Given the description of an element on the screen output the (x, y) to click on. 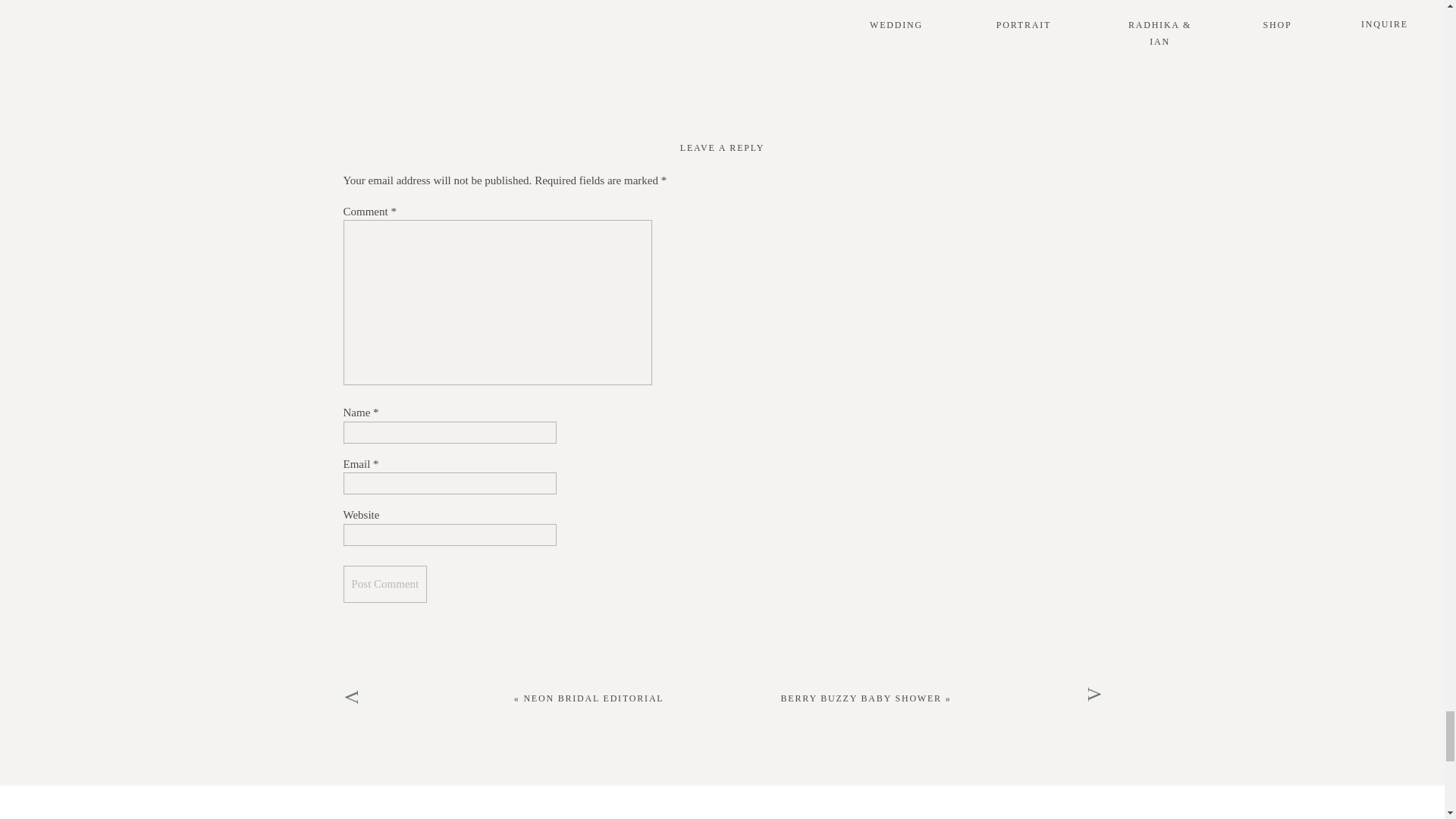
Post Comment (384, 583)
Post Comment (384, 583)
BERRY BUZZY BABY SHOWER (861, 697)
NEON BRIDAL EDITORIAL (592, 697)
BE THE FIRST TO COMMENT (721, 4)
